Given the description of an element on the screen output the (x, y) to click on. 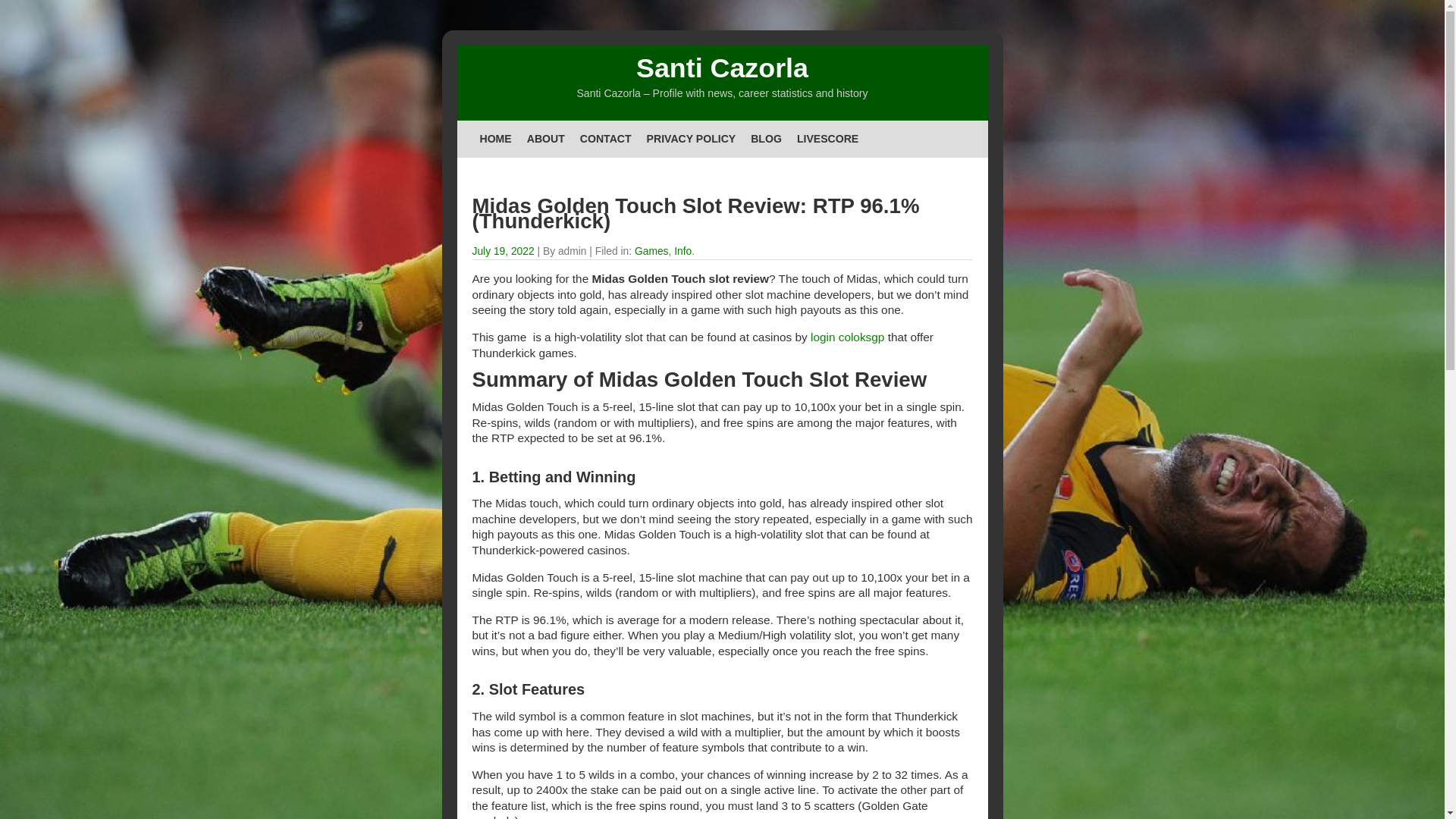
PRIVACY POLICY (691, 138)
LIVESCORE (827, 138)
ABOUT (545, 138)
July 19, 2022 (502, 250)
HOME (495, 138)
login coloksgp (846, 336)
CONTACT (605, 138)
Info (682, 250)
Santi Cazorla (722, 68)
BLOG (766, 138)
Games (651, 250)
